Given the description of an element on the screen output the (x, y) to click on. 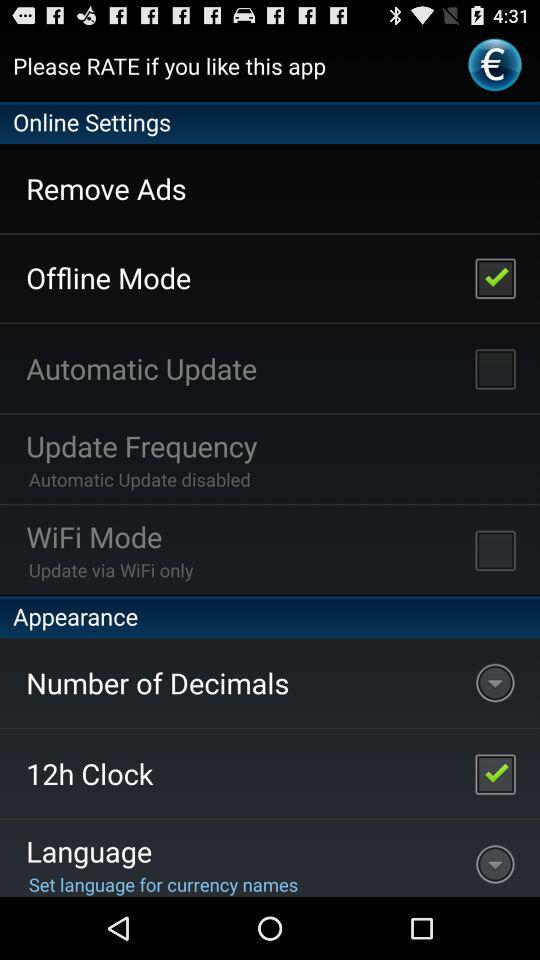
disable offline mode (495, 277)
